Given the description of an element on the screen output the (x, y) to click on. 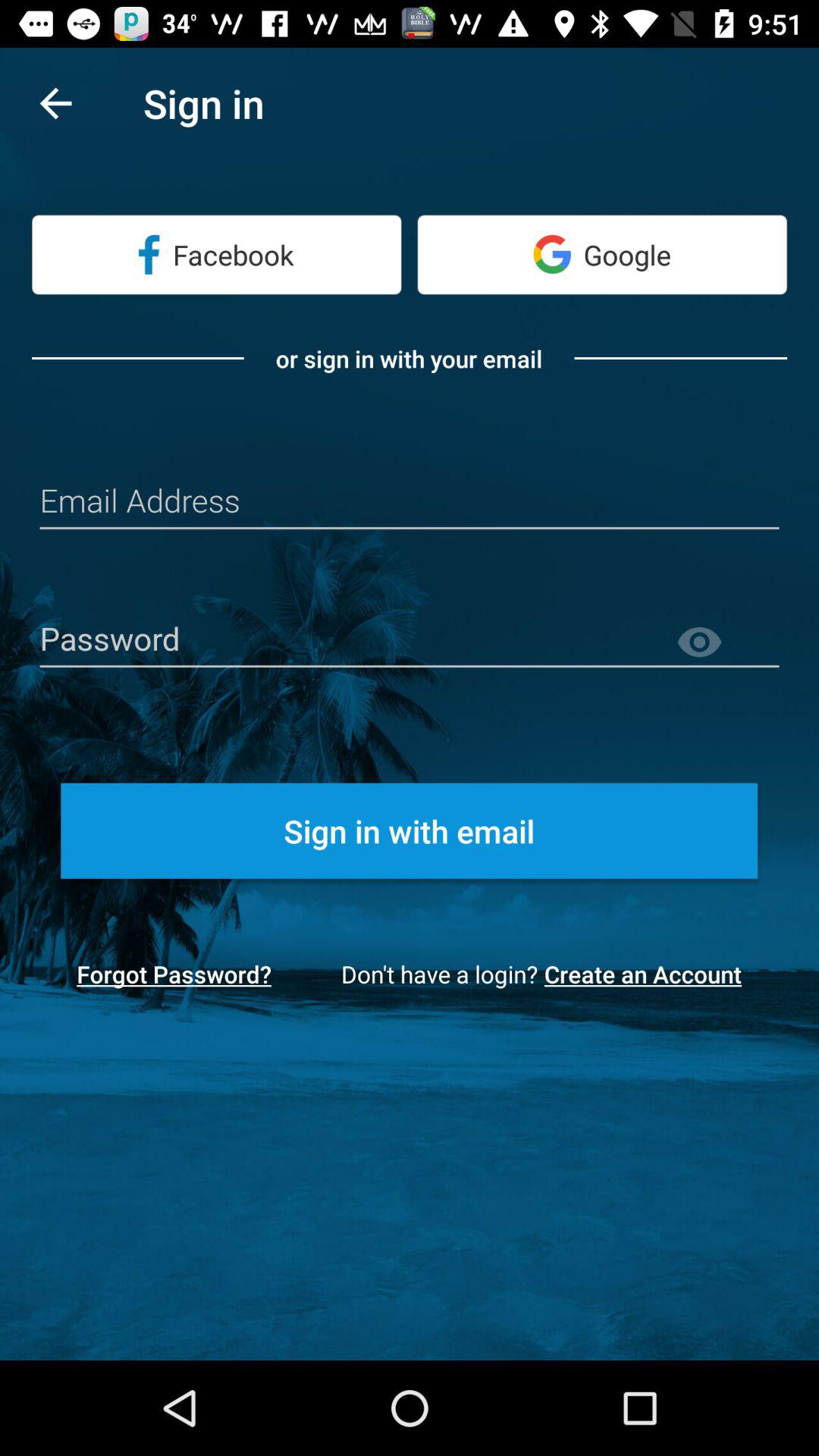
select the icon to the right of don t have (647, 974)
